Given the description of an element on the screen output the (x, y) to click on. 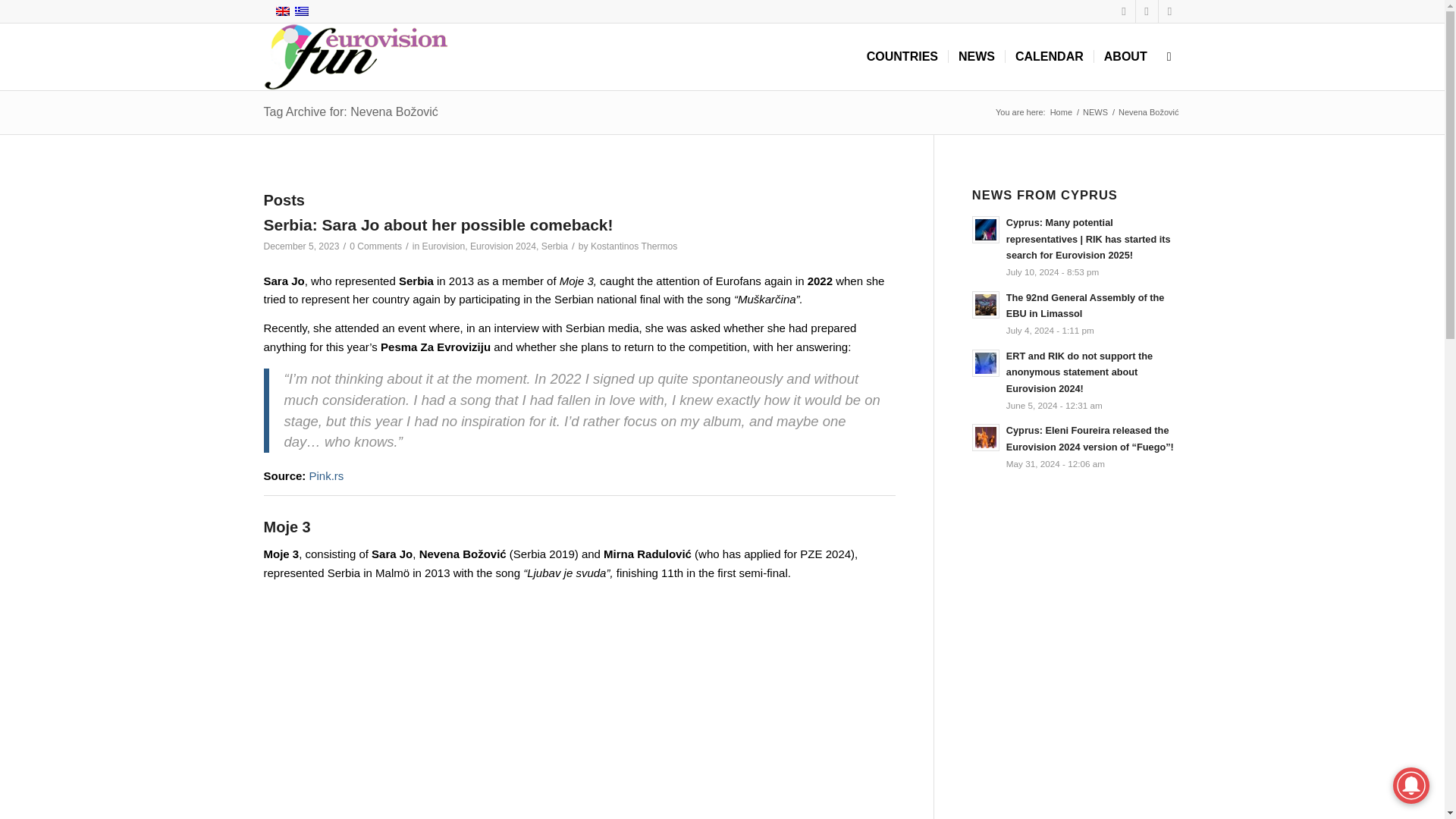
Posts by Kostantinos Thermos (634, 245)
Facebook (1124, 11)
NEWS (1094, 112)
Permanent Link: Serbia: Sara Jo about her possible comeback! (437, 224)
X (1146, 11)
English (282, 10)
Instagram (1169, 11)
eurovision-fun-transparent-logo (355, 56)
COUNTRIES (902, 56)
